Given the description of an element on the screen output the (x, y) to click on. 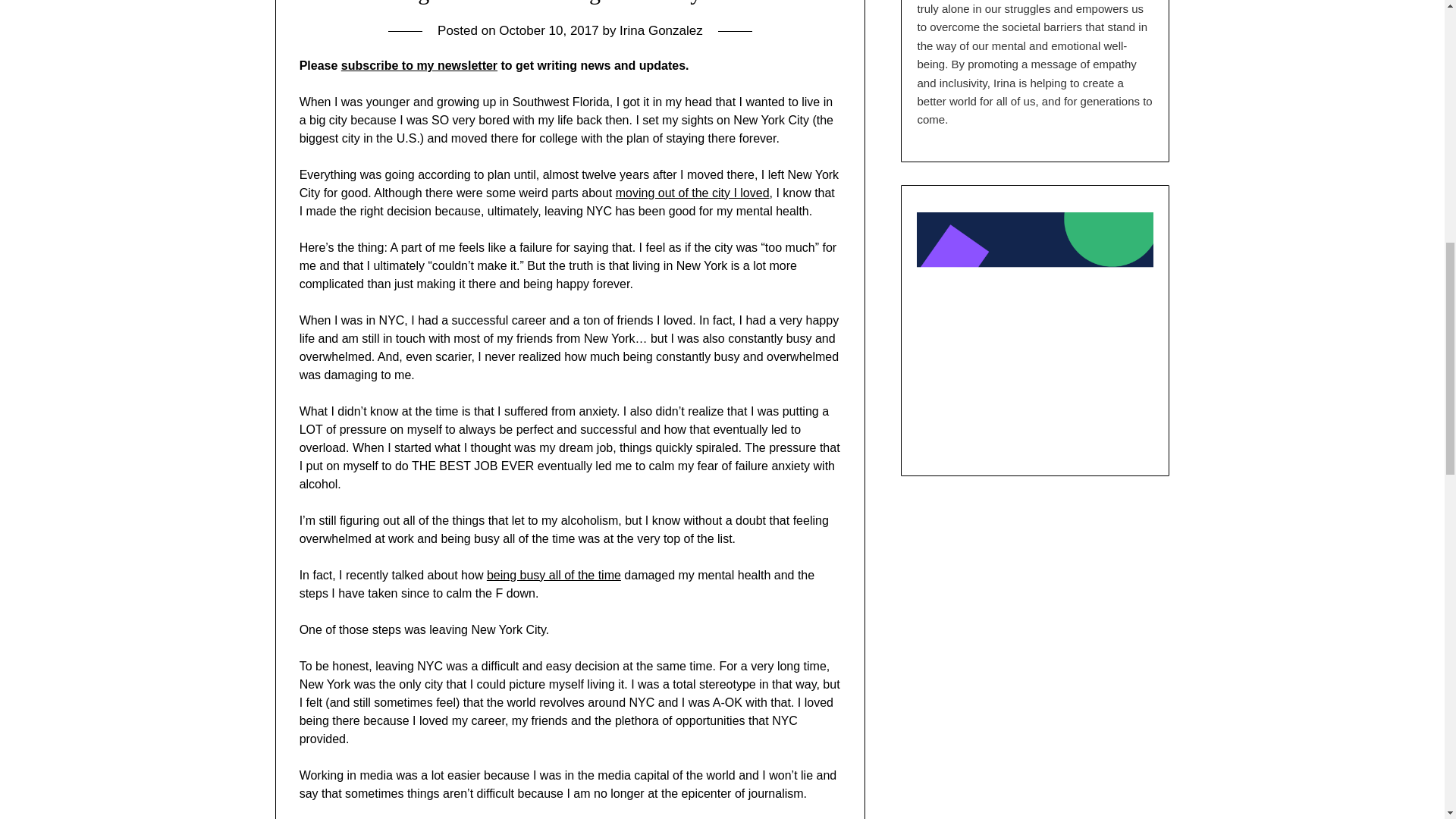
moving out of the city I loved (692, 192)
October 10, 2017 (548, 30)
subscribe to my newsletter (418, 65)
Irina Gonzalez (661, 30)
being busy all of the time (553, 574)
